Given the description of an element on the screen output the (x, y) to click on. 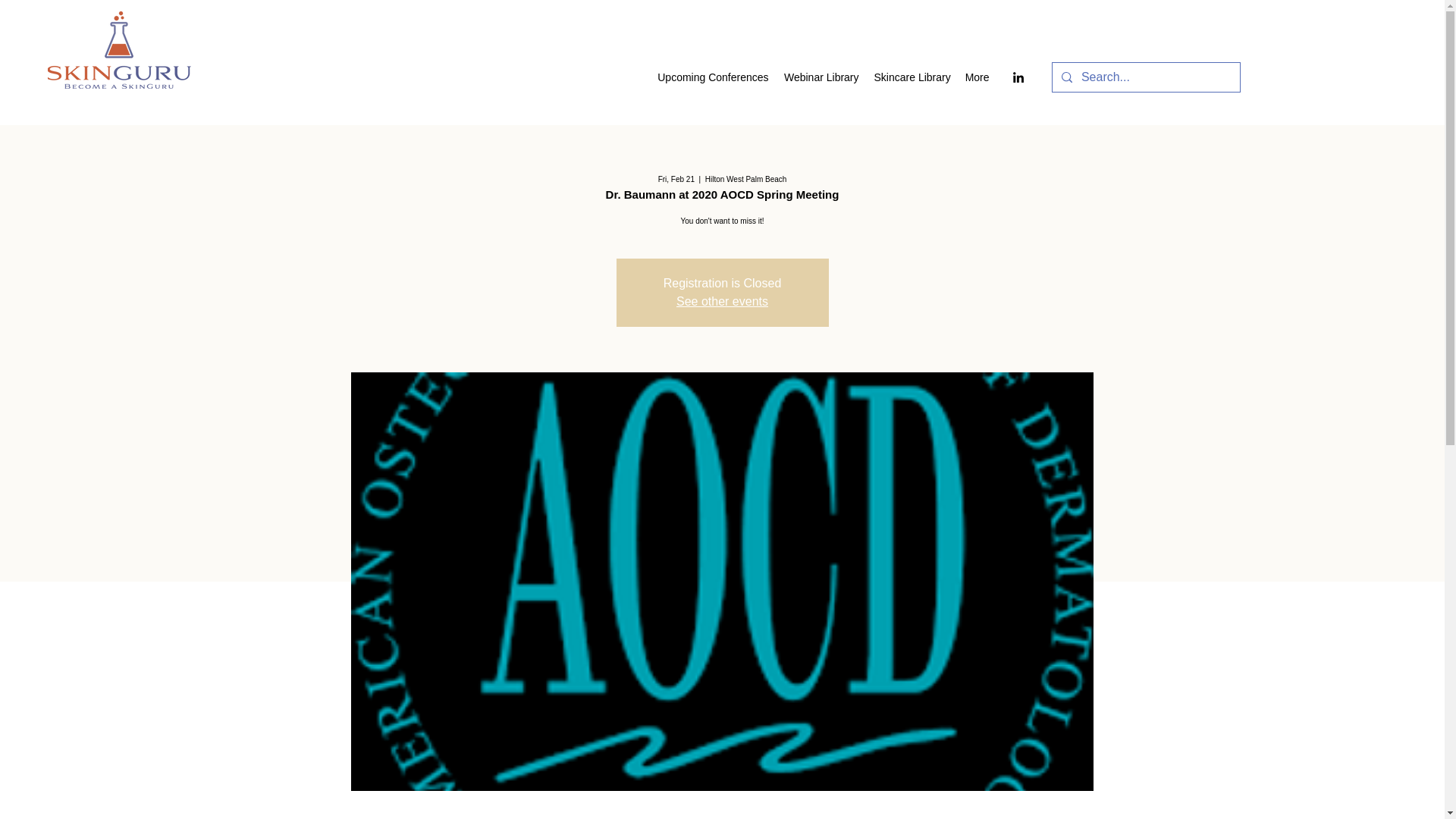
Skincare Library (911, 77)
Upcoming Conferences (711, 77)
Webinar Library (821, 77)
See other events (722, 300)
